Given the description of an element on the screen output the (x, y) to click on. 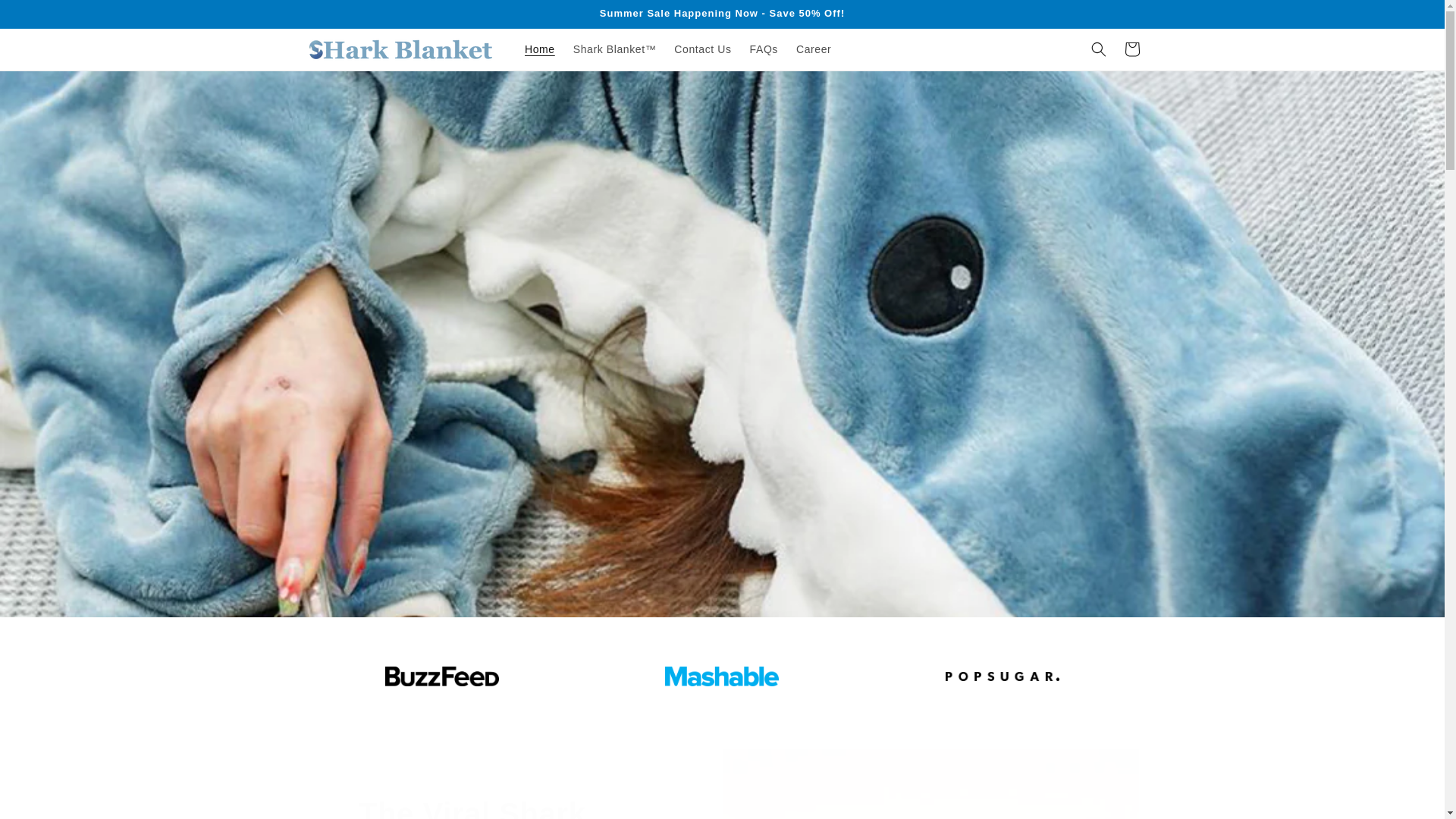
Contact Us (702, 49)
Shop all (721, 546)
FAQs (813, 49)
Cart (764, 49)
Home (1131, 49)
Skip to content (539, 49)
